Given the description of an element on the screen output the (x, y) to click on. 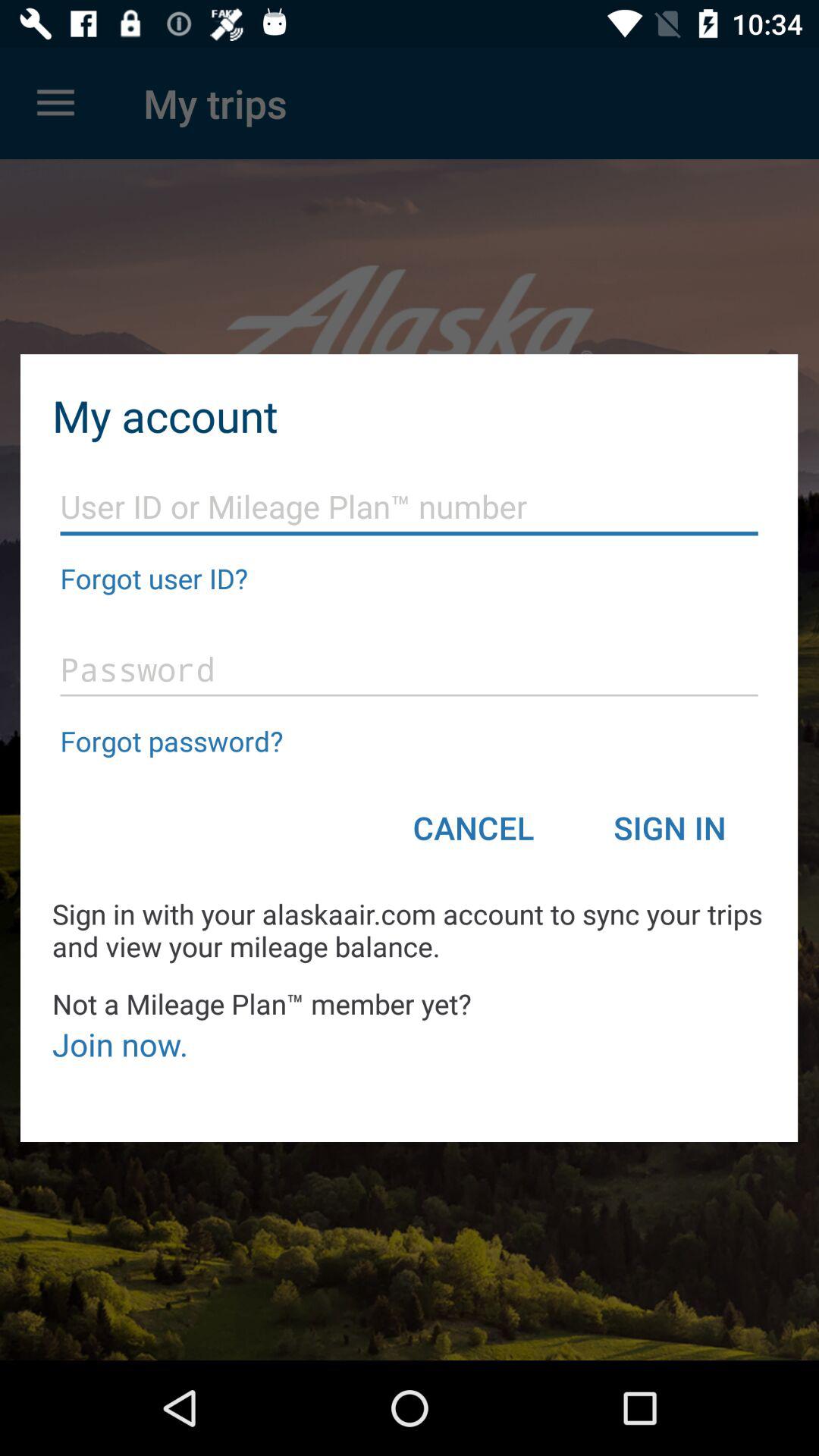
login page (409, 669)
